Given the description of an element on the screen output the (x, y) to click on. 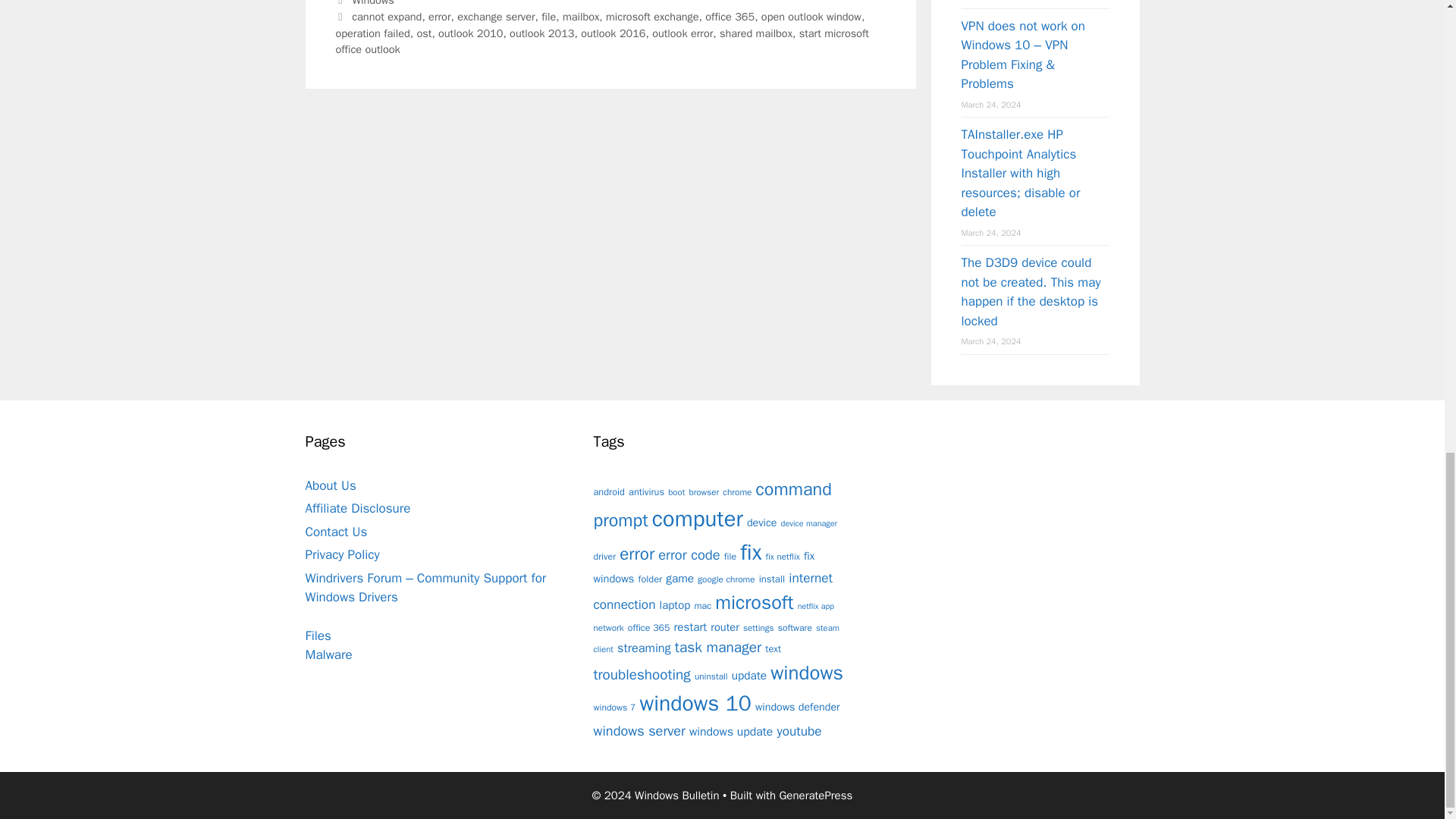
open outlook window (811, 16)
Windows (373, 3)
microsoft exchange (651, 16)
outlook 2013 (541, 33)
outlook 2016 (612, 33)
outlook error (682, 33)
ost (423, 33)
operation failed (371, 33)
start microsoft office outlook (600, 41)
mailbox (580, 16)
